Given the description of an element on the screen output the (x, y) to click on. 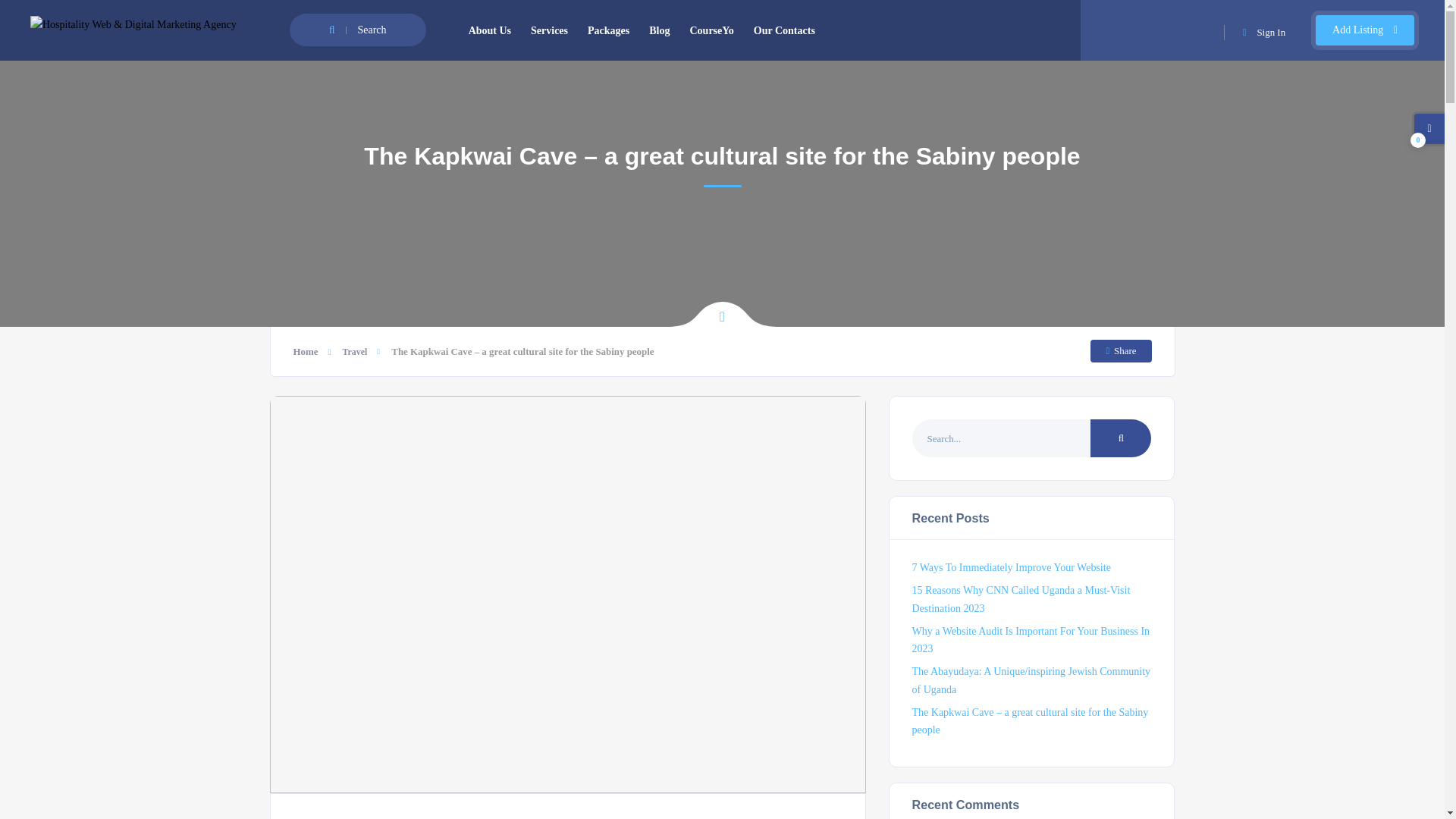
CourseYo (711, 30)
Home (311, 351)
Add Listing (1364, 30)
Travel (354, 351)
Blog (659, 30)
Packages (608, 30)
Sign In (1264, 32)
Services (548, 30)
Home (311, 351)
Our Contacts (783, 30)
About Us (489, 30)
